Given the description of an element on the screen output the (x, y) to click on. 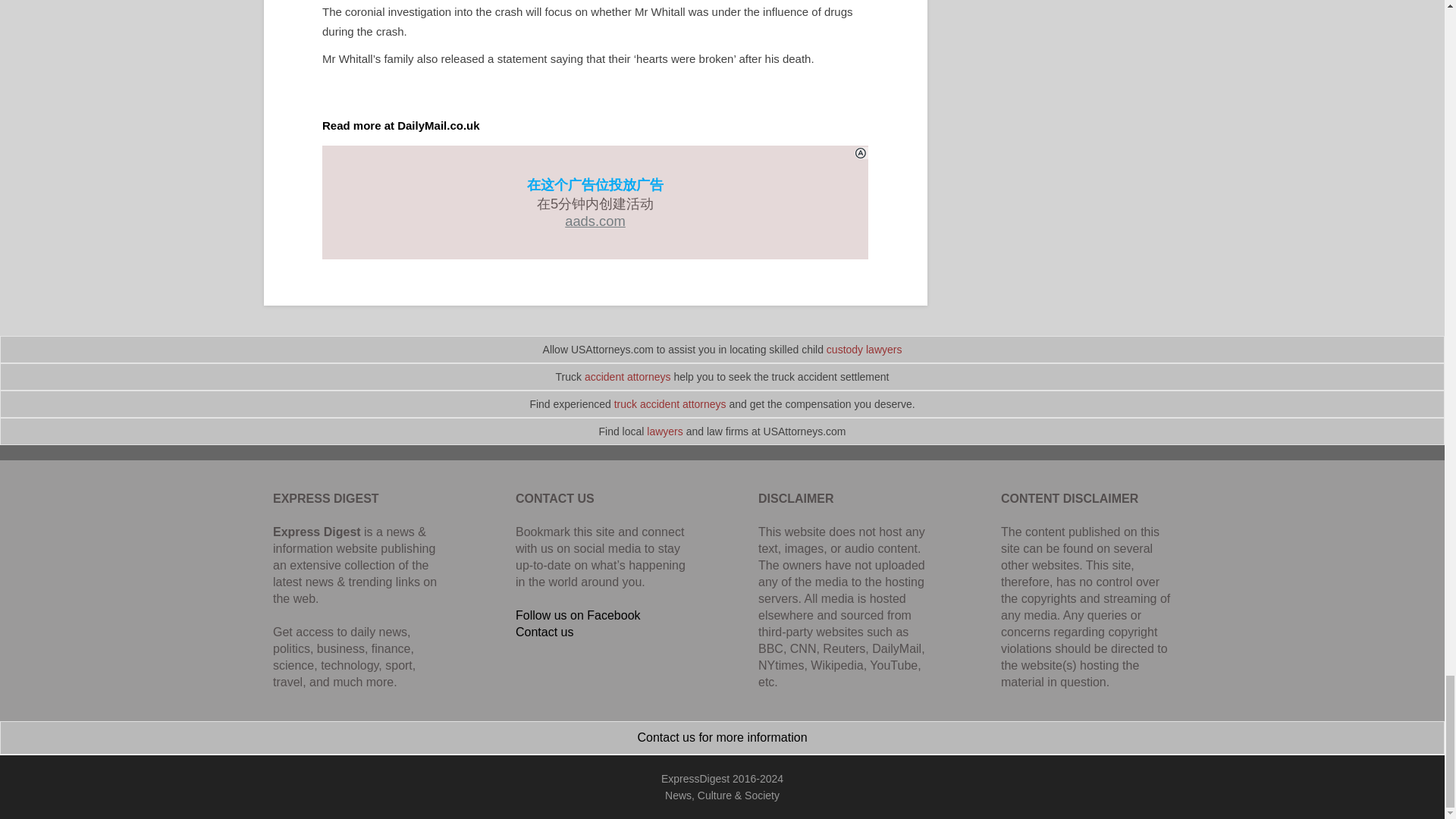
accident attorneys (628, 377)
custody lawyers (864, 349)
Read more at DailyMail.co.uk (400, 124)
lawyers (664, 431)
truck accident attorneys (670, 404)
